Given the description of an element on the screen output the (x, y) to click on. 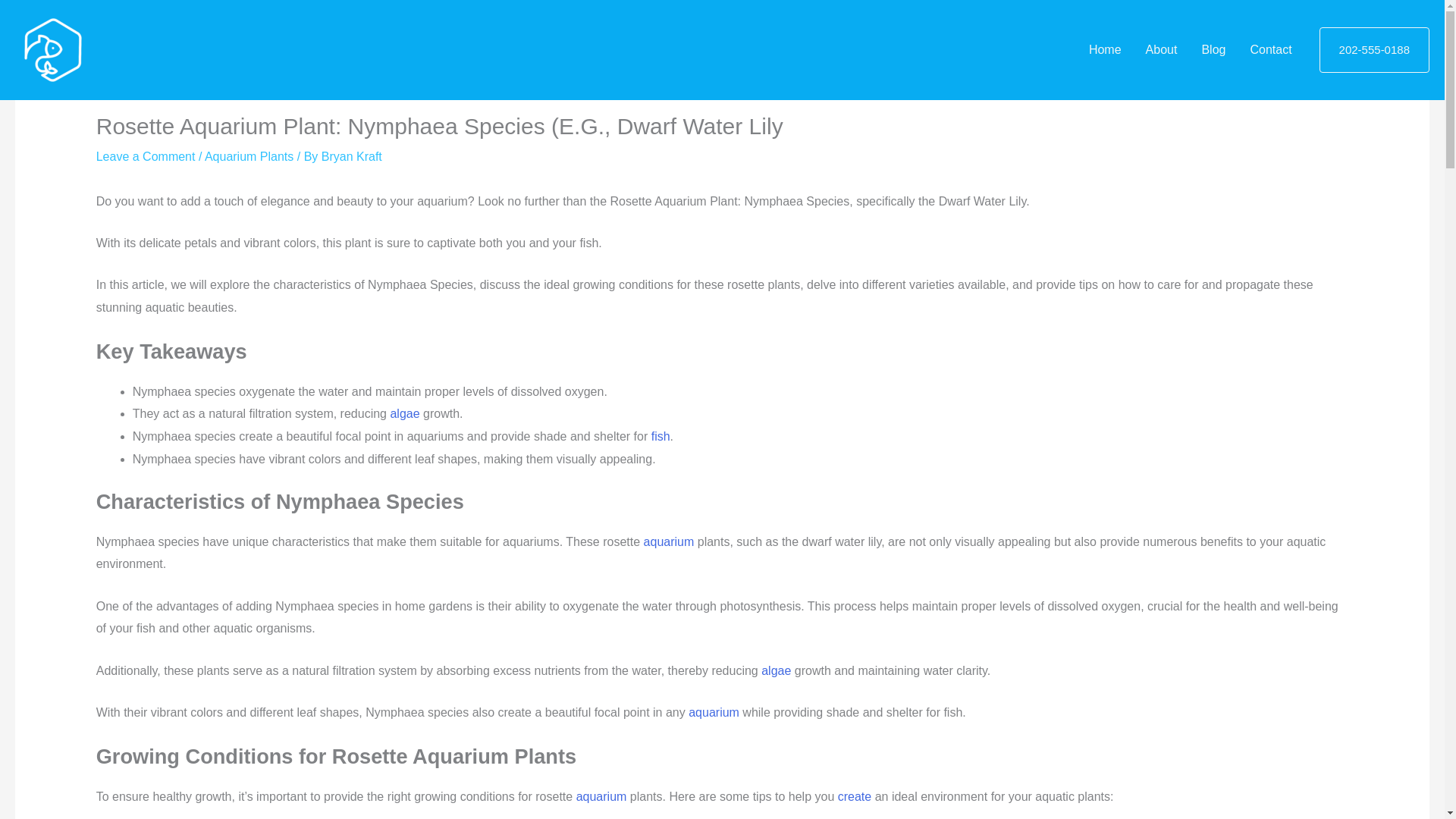
Aquarium Plants (249, 155)
View all posts by Bryan Kraft (351, 155)
create (854, 796)
aquarium (713, 712)
202-555-0188 (1374, 49)
Bryan Kraft (351, 155)
aquarium (713, 712)
algae (404, 413)
create (854, 796)
Leave a Comment (145, 155)
aquarium (668, 541)
About (1161, 49)
aquarium (668, 541)
fish (659, 436)
aquarium (601, 796)
